Given the description of an element on the screen output the (x, y) to click on. 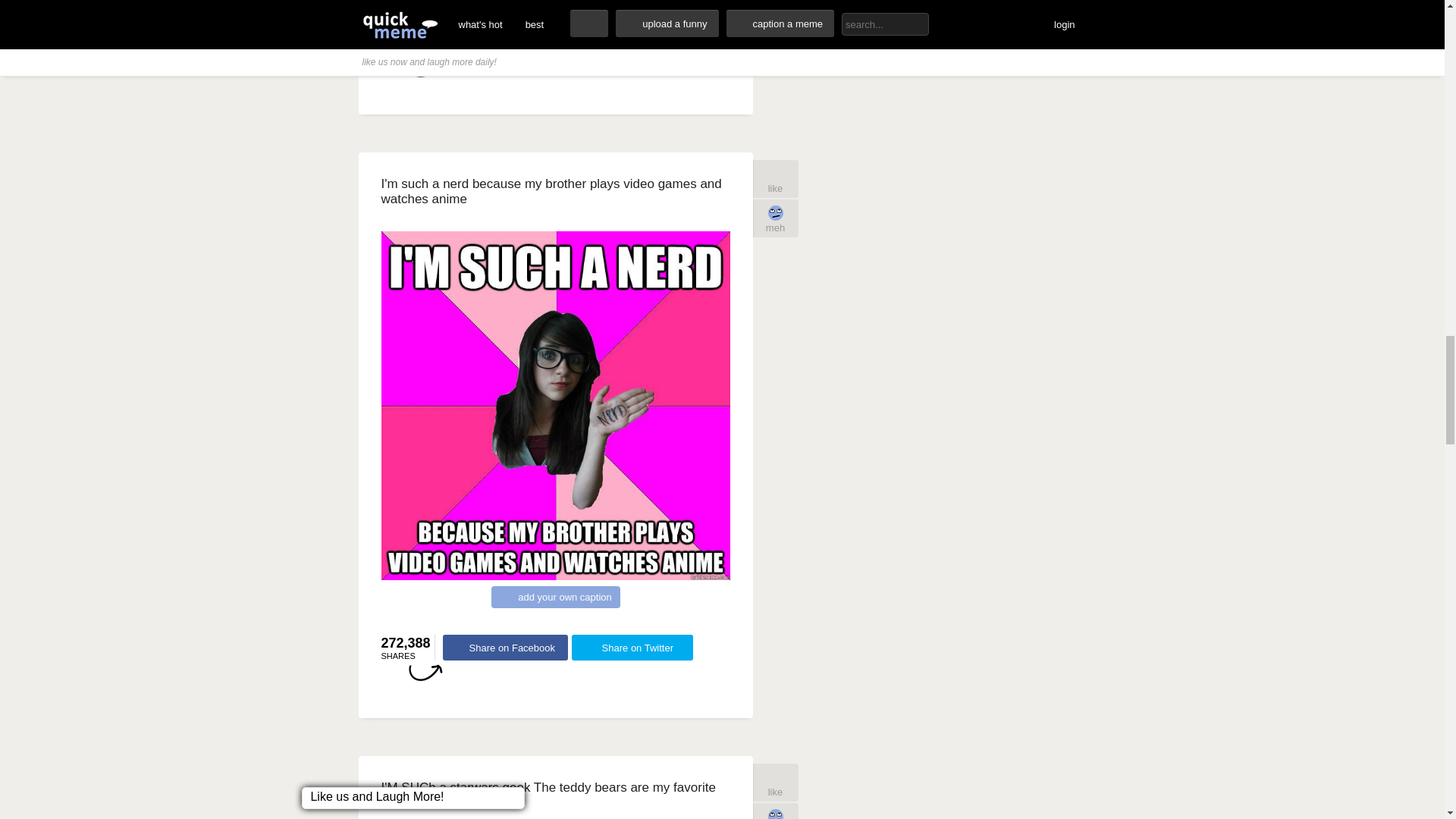
add your own caption (556, 2)
Share on Twitter (632, 43)
Share on Facebook (504, 43)
Share on Twitter (632, 647)
Share on Facebook (504, 647)
add your own caption (556, 597)
